Given the description of an element on the screen output the (x, y) to click on. 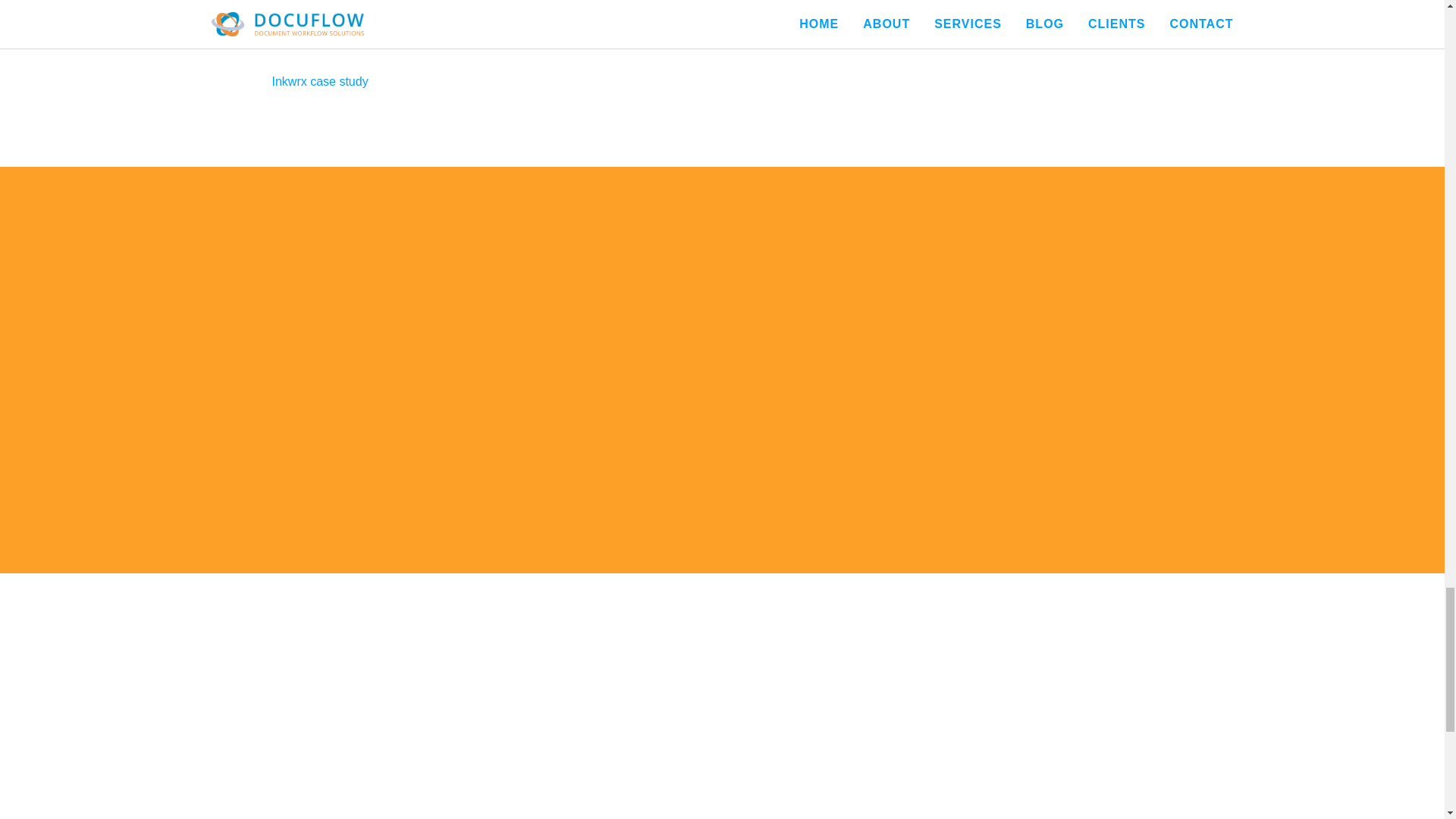
Inkwrx brochure (591, 22)
Inkwrx case study (591, 81)
